Given the description of an element on the screen output the (x, y) to click on. 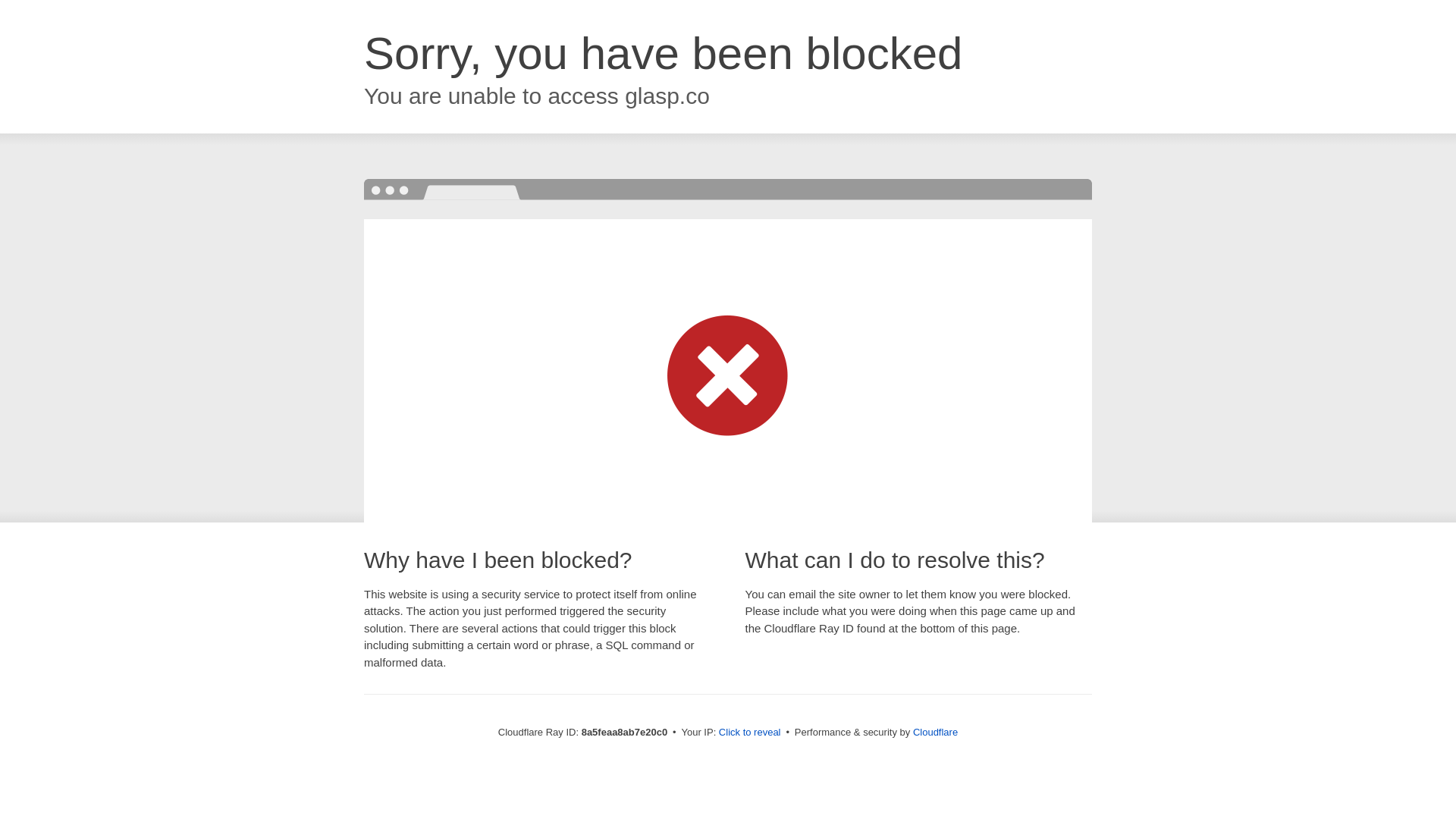
Click to reveal (749, 732)
Cloudflare (935, 731)
